Given the description of an element on the screen output the (x, y) to click on. 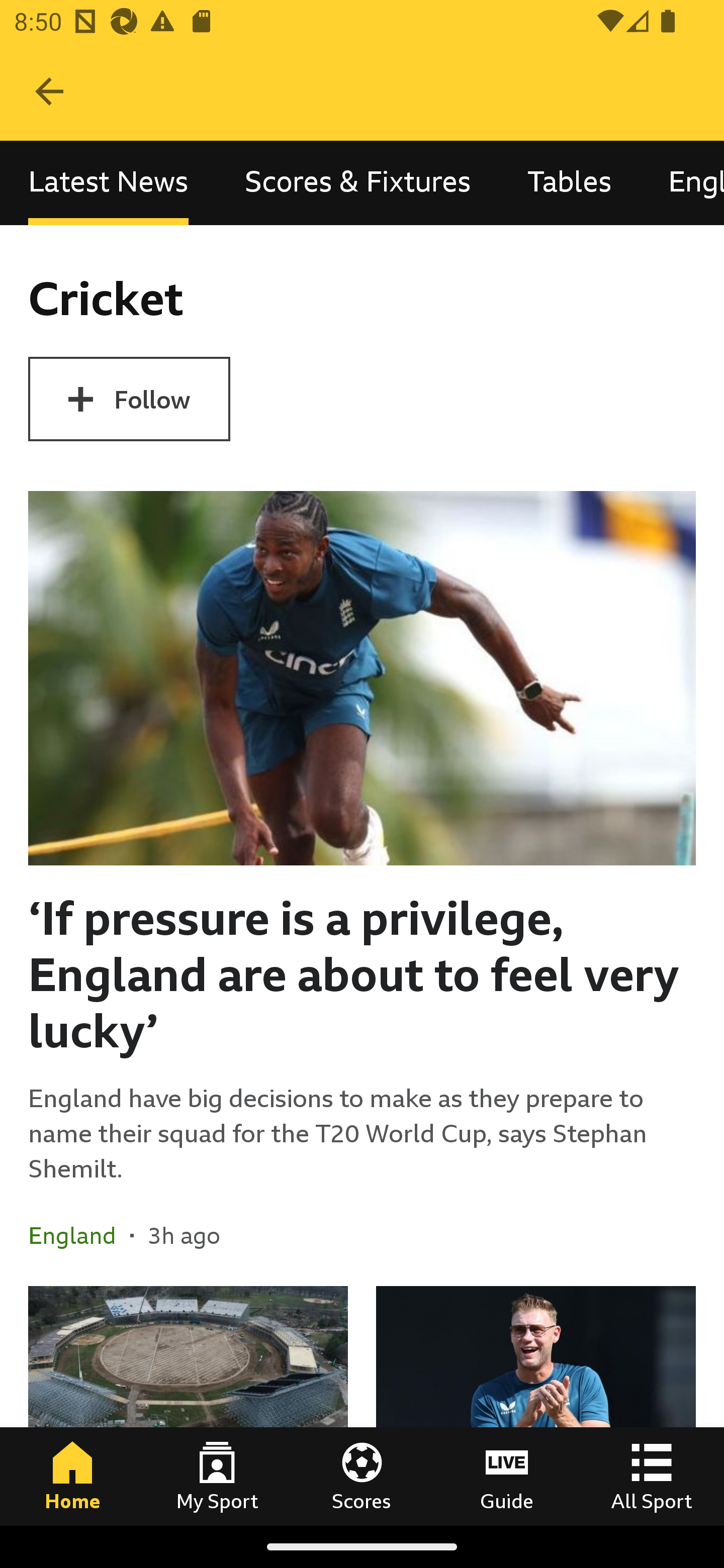
Navigate up (49, 91)
Latest News, selected Latest News (108, 183)
Scores & Fixtures (357, 183)
Tables (569, 183)
Follow Cricket Follow (129, 398)
England In the section England (79, 1234)
My Sport (216, 1475)
Scores (361, 1475)
Guide (506, 1475)
All Sport (651, 1475)
